Given the description of an element on the screen output the (x, y) to click on. 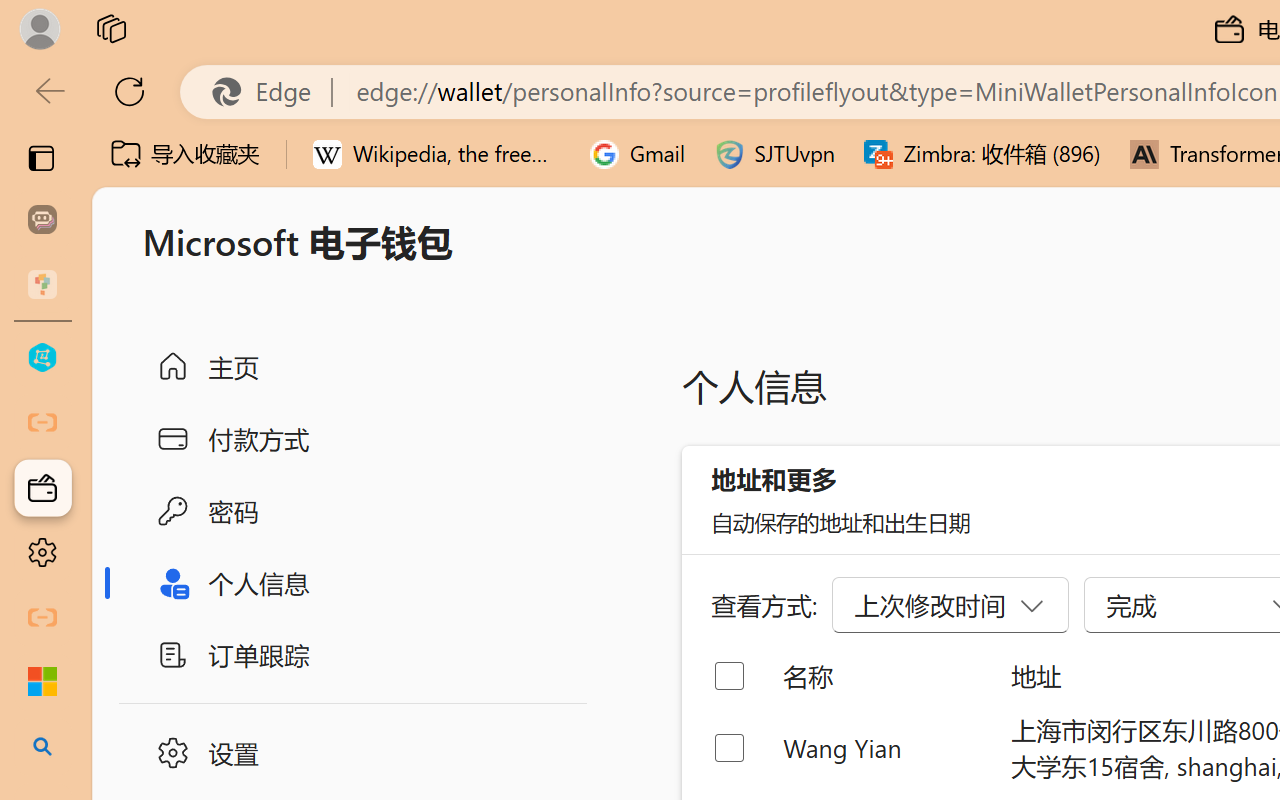
Gmail (637, 154)
Wikipedia, the free encyclopedia (437, 154)
Wang Yian (880, 747)
Microsoft security help and learning (42, 681)
